Given the description of an element on the screen output the (x, y) to click on. 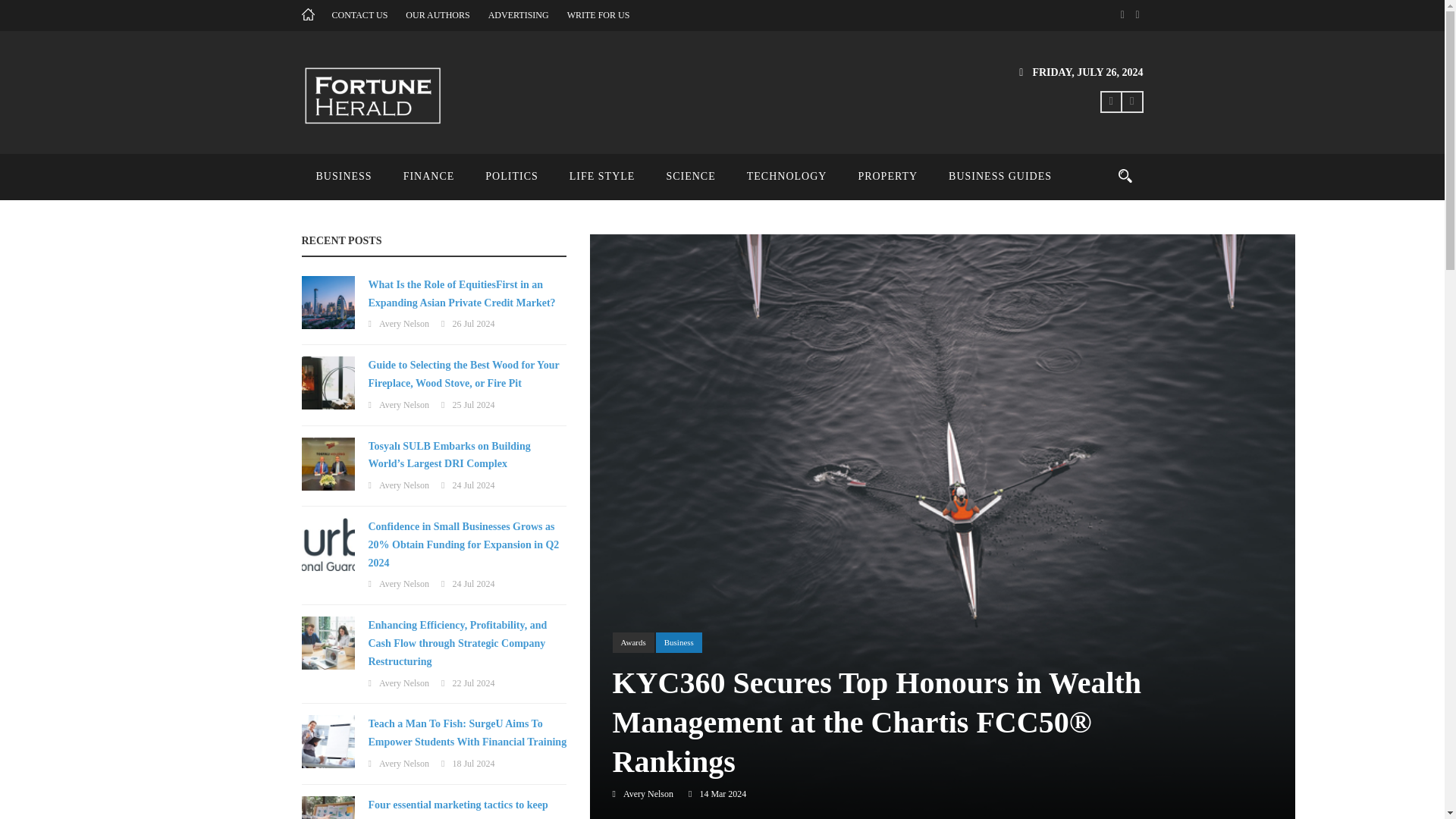
OUR AUTHORS (437, 15)
ADVERTISING (517, 15)
CONTACT US (359, 15)
WRITE FOR US (598, 15)
